Given the description of an element on the screen output the (x, y) to click on. 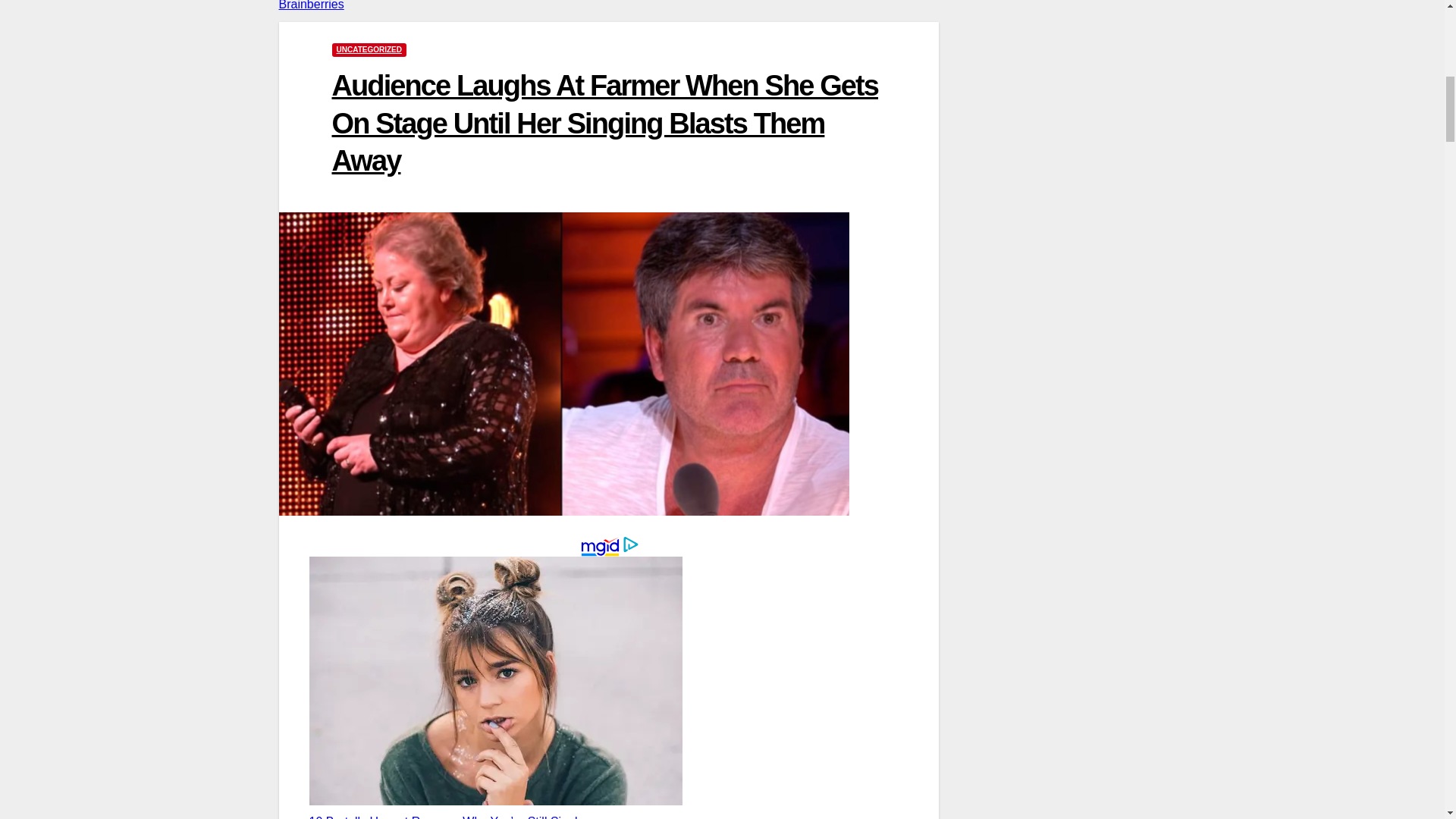
UNCATEGORIZED (368, 49)
